Given the description of an element on the screen output the (x, y) to click on. 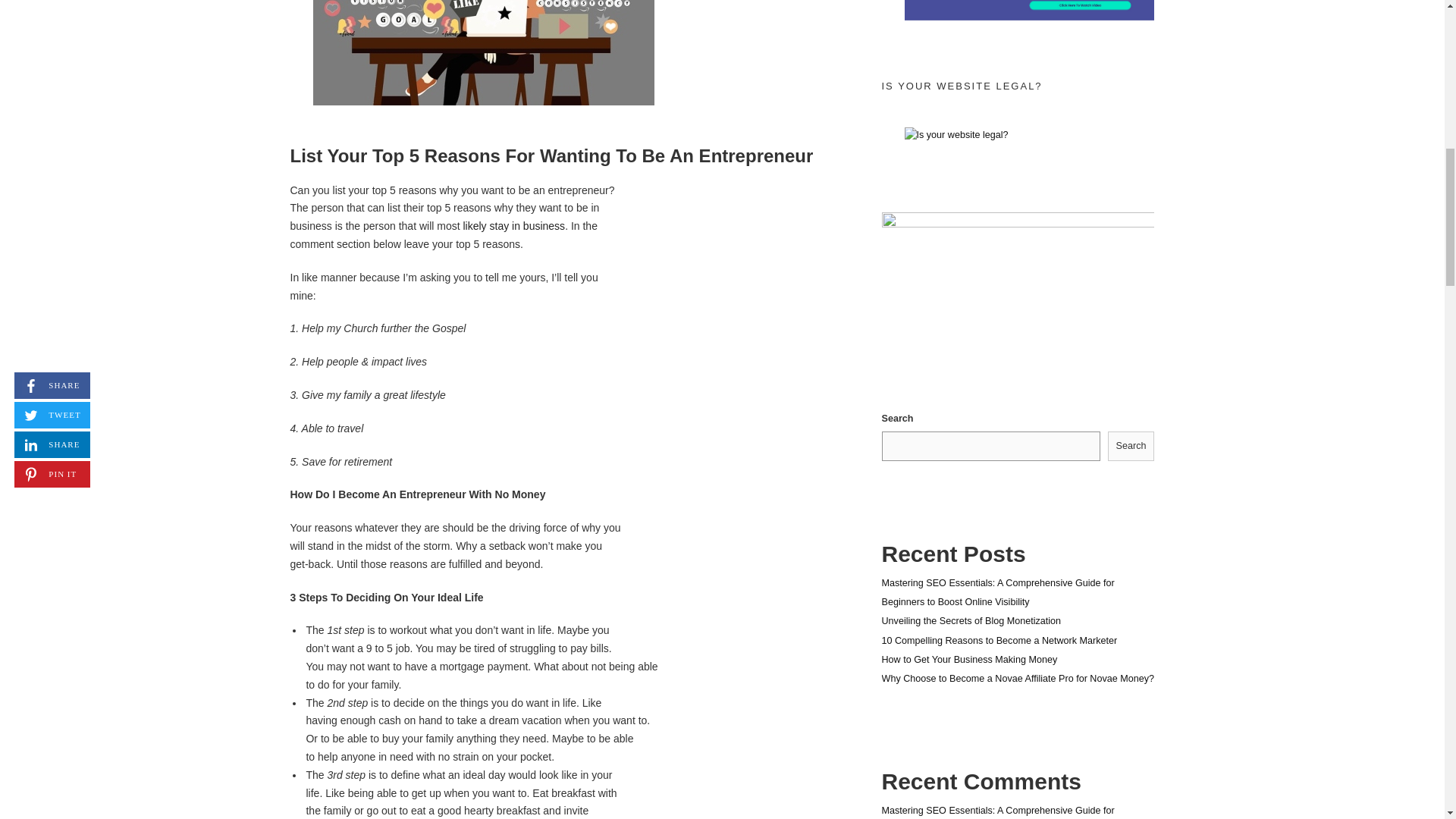
likely stay in business (513, 225)
Search (1131, 446)
